Given the description of an element on the screen output the (x, y) to click on. 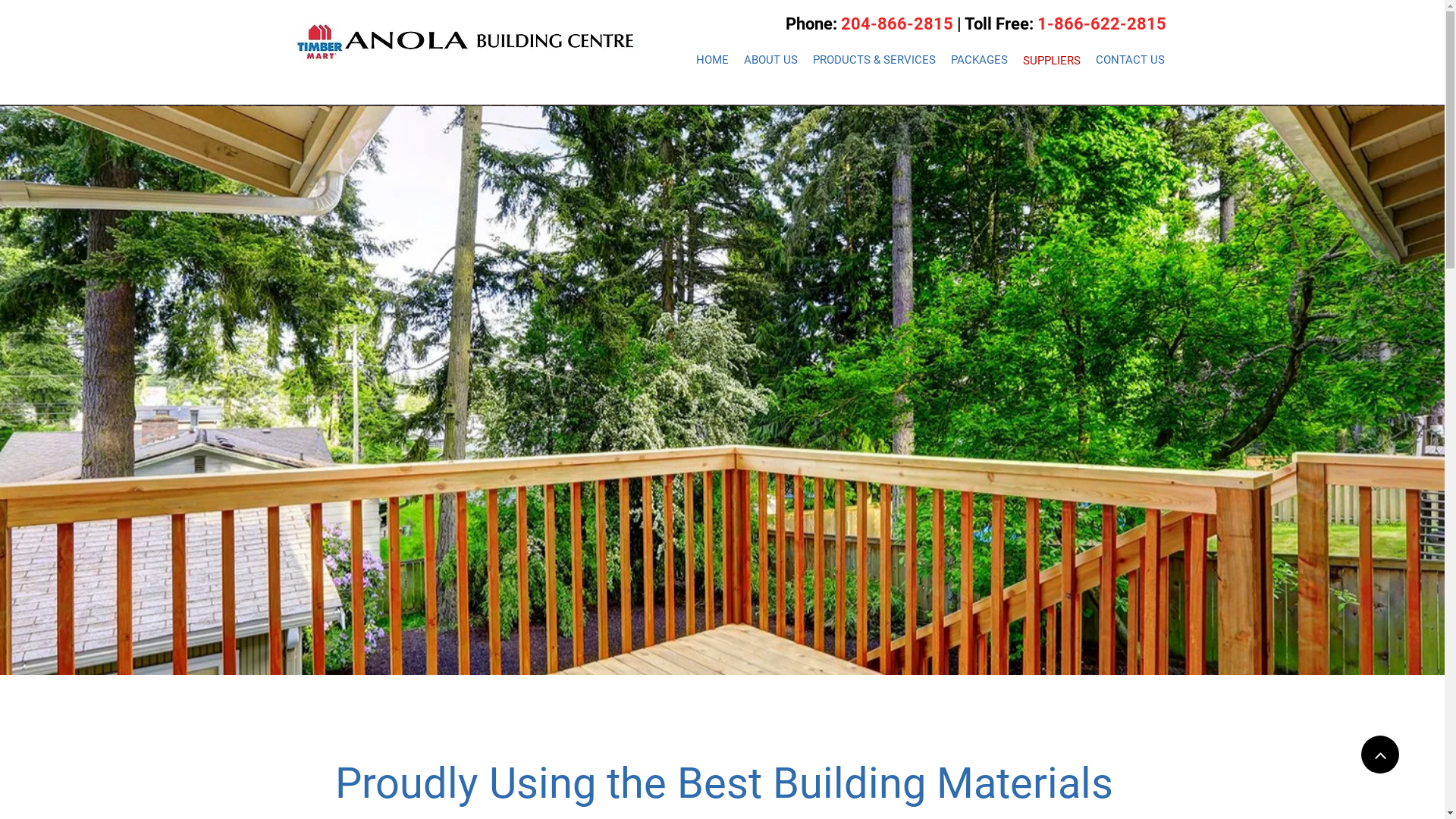
PACKAGES Element type: text (978, 59)
SUPPLIERS Element type: text (1050, 61)
HOME Element type: text (712, 59)
CONTACT US Element type: text (1129, 59)
1-866-622-2815 Element type: text (1101, 26)
204-866-2815 Element type: text (896, 26)
PRODUCTS & SERVICES Element type: text (873, 59)
ABOUT US Element type: text (770, 59)
